Given the description of an element on the screen output the (x, y) to click on. 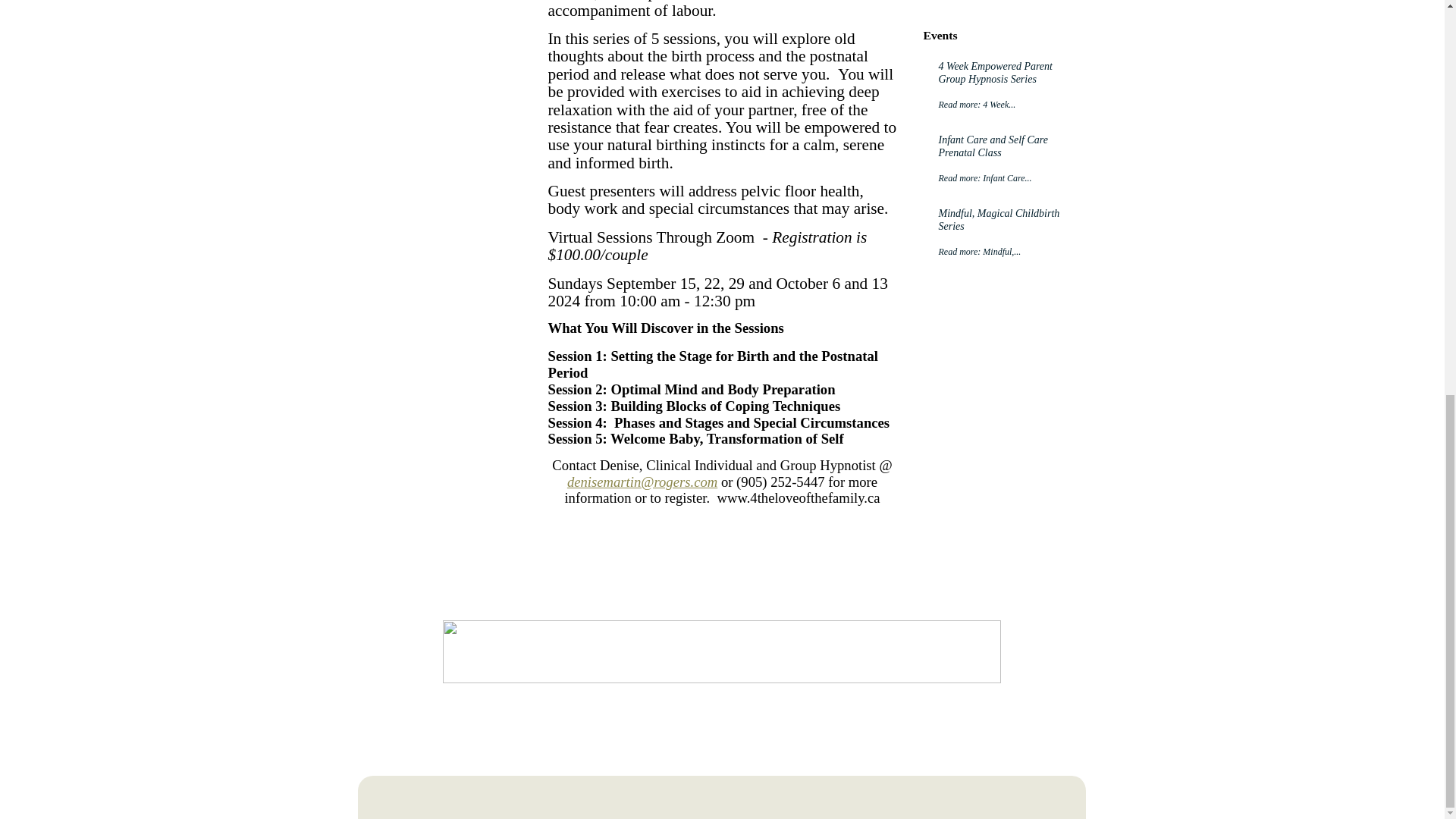
4 Week Empowered Parent Group Hypnosis Series (995, 73)
Infant Care and Self Care Prenatal Class (995, 146)
Read more: 4 Week... (995, 104)
Joomla Template: by JoomlaShack (736, 804)
Mindful, Magical Childbirth Series (995, 220)
Read more: Mindful,... (995, 252)
Read more: Infant Care... (995, 178)
